Given the description of an element on the screen output the (x, y) to click on. 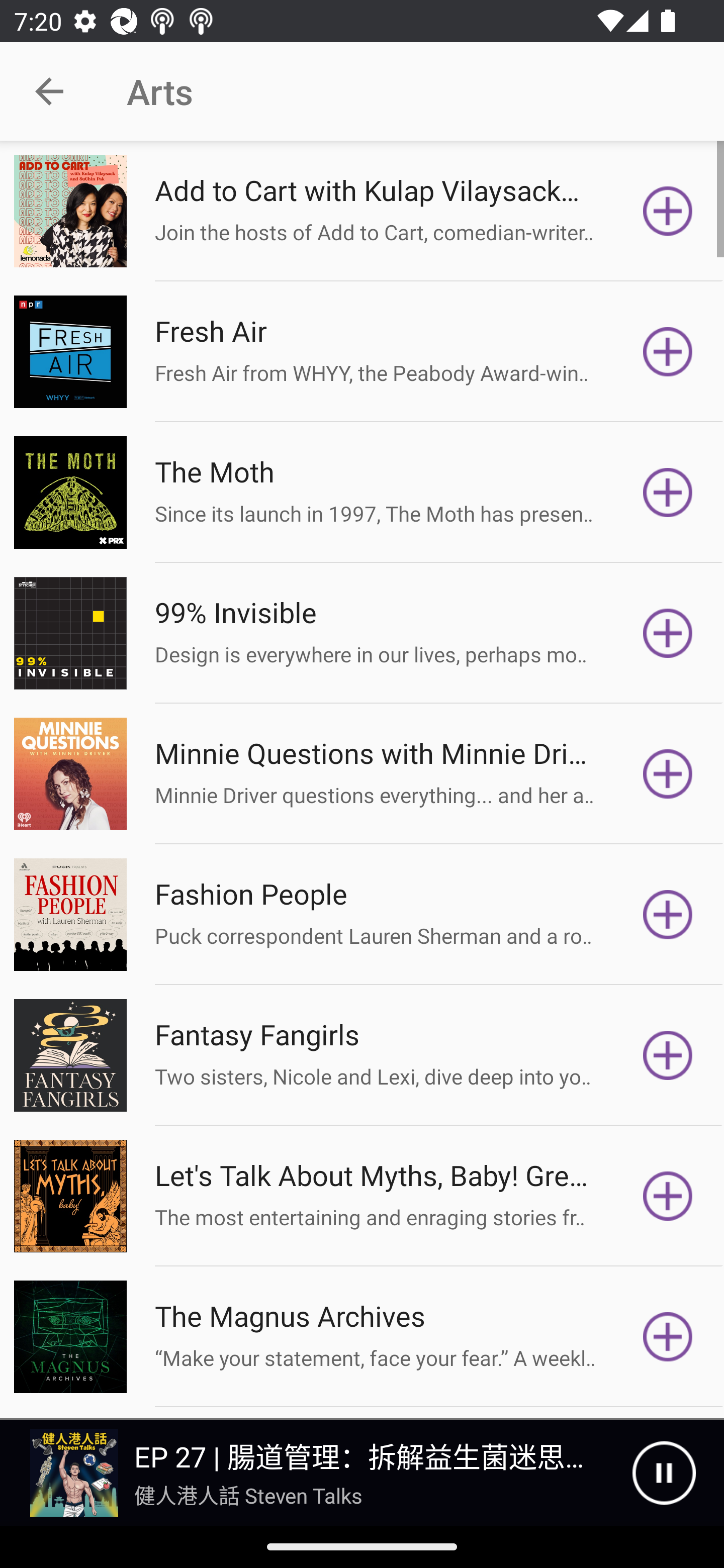
Navigate up (49, 91)
Subscribe (667, 211)
Subscribe (667, 350)
Subscribe (667, 491)
Subscribe (667, 633)
Subscribe (667, 773)
Subscribe (667, 913)
Subscribe (667, 1054)
Subscribe (667, 1195)
Subscribe (667, 1336)
Pause (663, 1472)
